Given the description of an element on the screen output the (x, y) to click on. 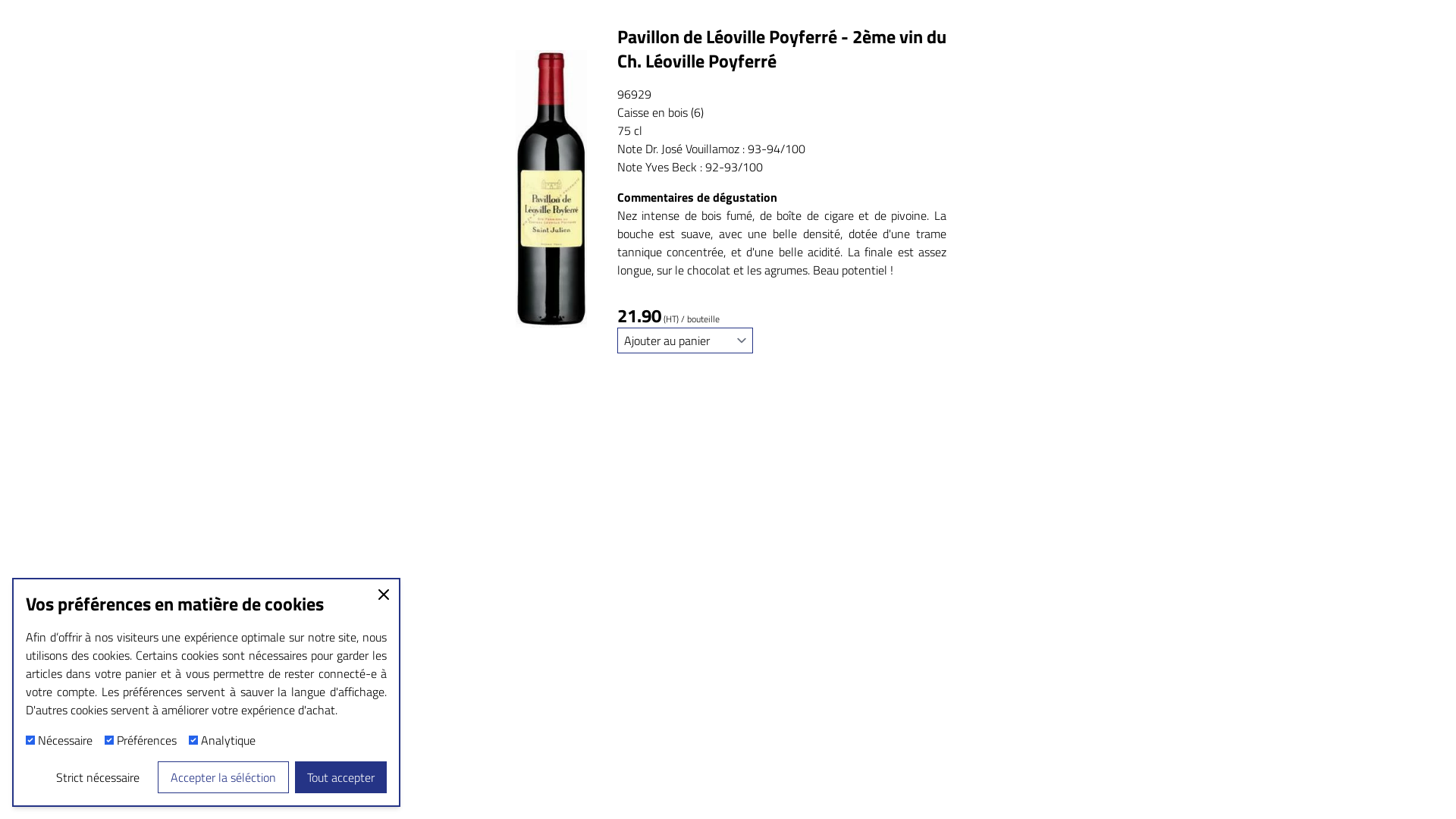
Tout accepter Element type: text (340, 777)
